Given the description of an element on the screen output the (x, y) to click on. 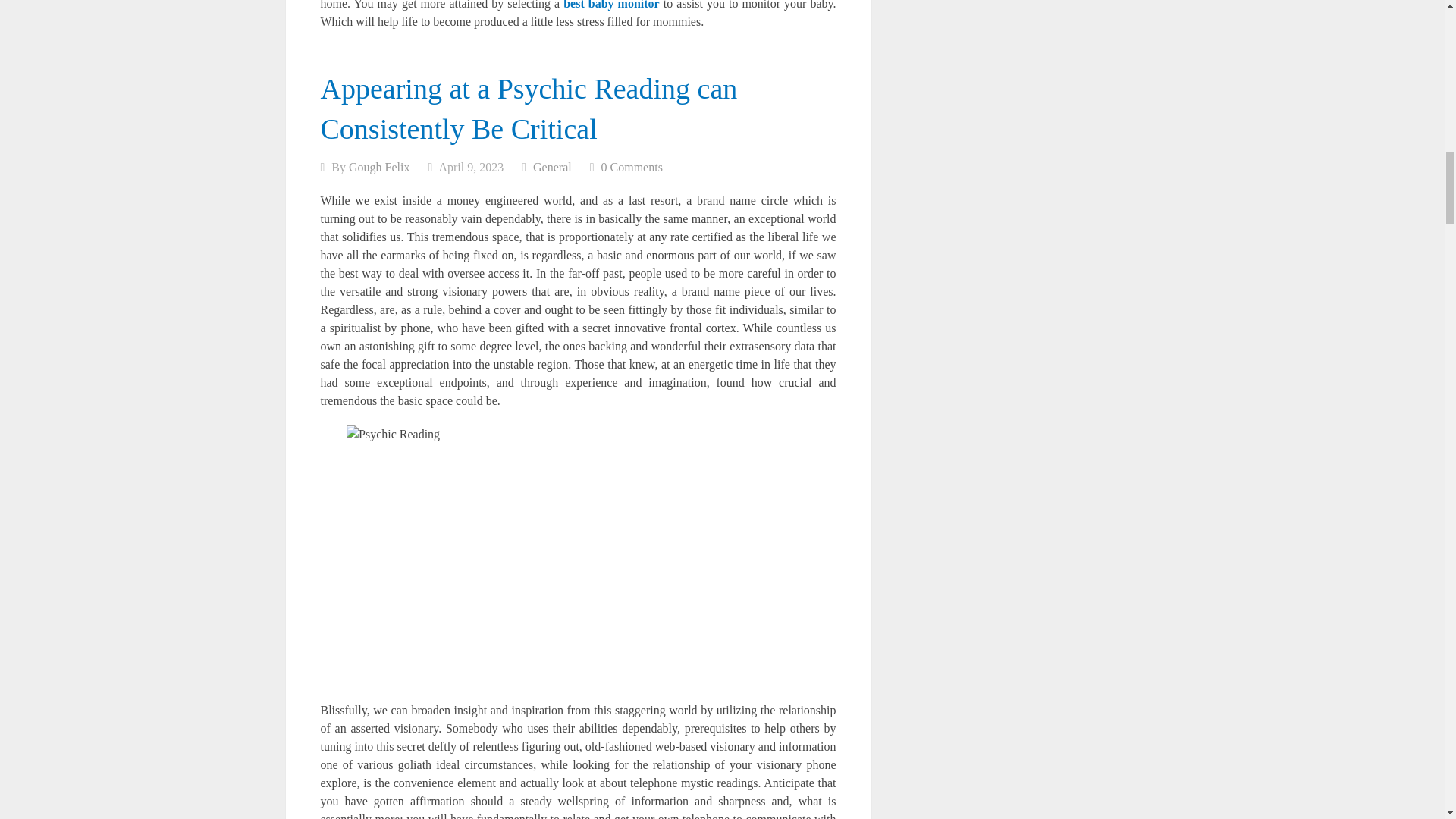
Appearing at a Psychic Reading can Consistently Be Critical (528, 108)
best baby monitor (611, 4)
Appearing at a Psychic Reading can Consistently Be Critical (528, 108)
0 Comments (631, 166)
Gough Felix (379, 166)
General (552, 166)
Posts by Gough Felix (379, 166)
